Given the description of an element on the screen output the (x, y) to click on. 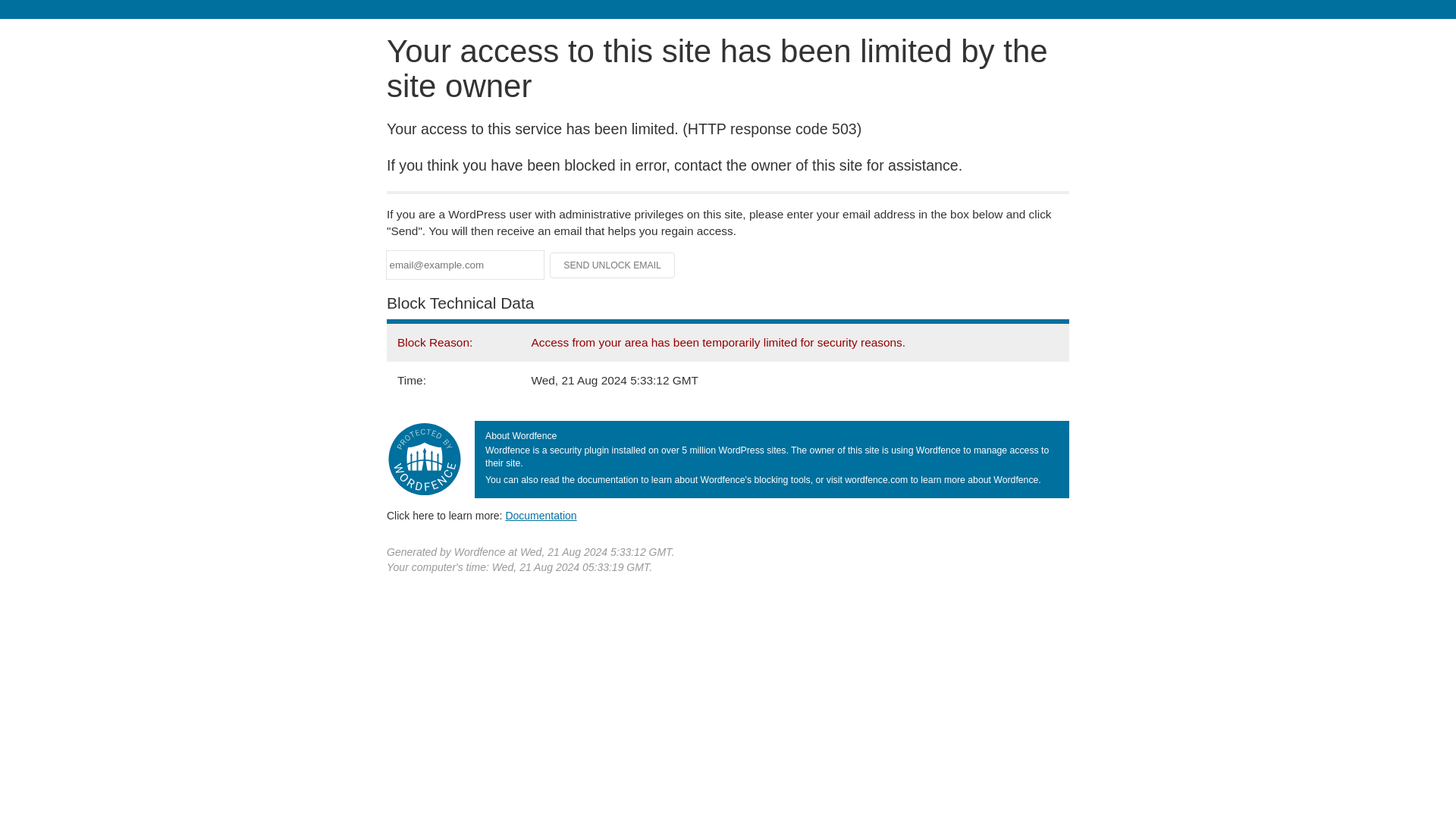
Documentation (540, 515)
Send Unlock Email (612, 265)
Send Unlock Email (612, 265)
